Given the description of an element on the screen output the (x, y) to click on. 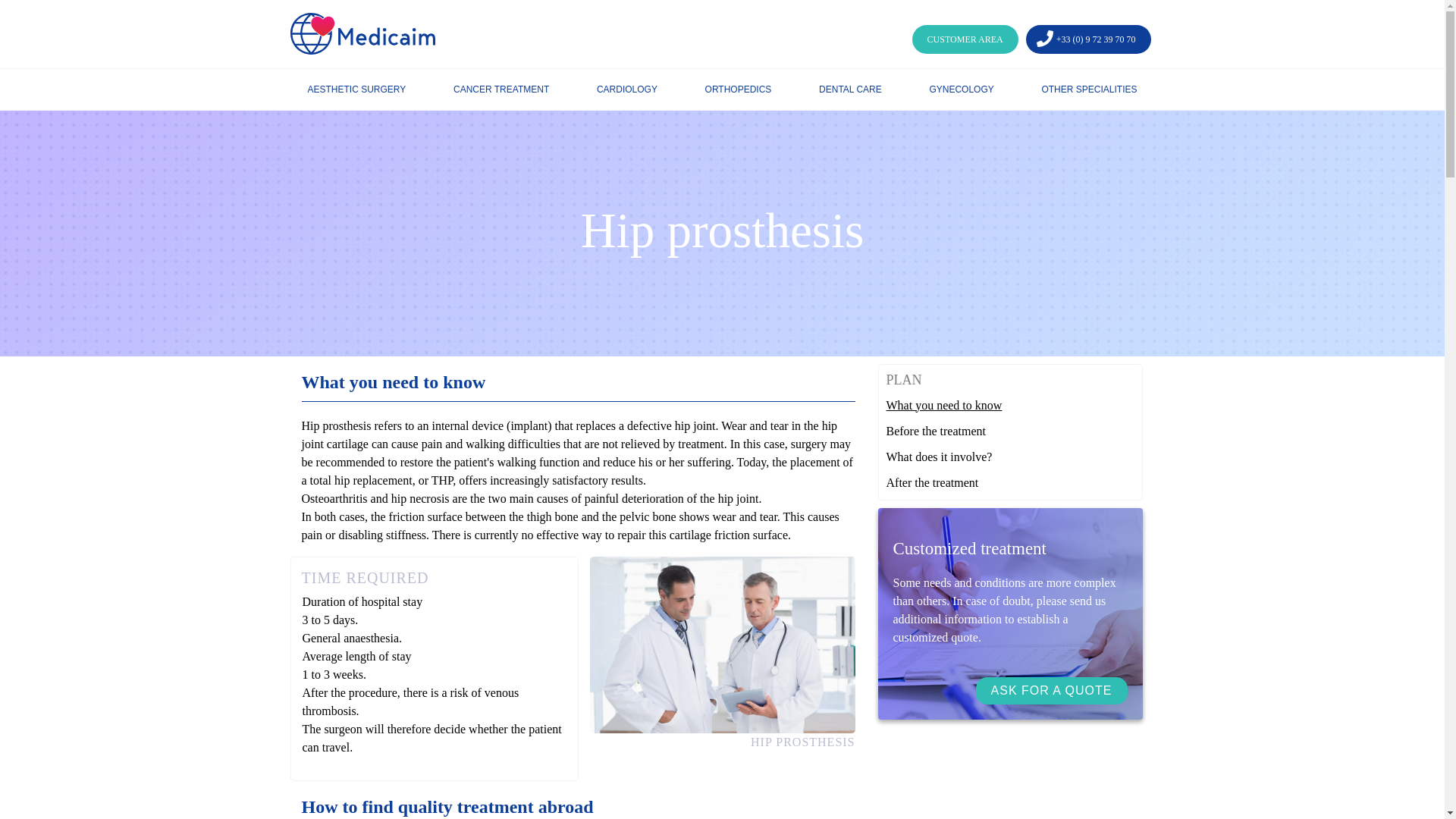
Before the treatment (1009, 431)
CUSTOMER AREA (964, 39)
GYNECOLOGY (960, 88)
ASK FOR A QUOTE (1051, 690)
CARDIOLOGY (627, 88)
What you need to know (1009, 405)
AESTHETIC SURGERY (356, 88)
What does it involve? (1009, 456)
ORTHOPEDICS (737, 88)
CANCER TREATMENT (500, 88)
After the treatment (1009, 483)
OTHER SPECIALITIES (1088, 88)
DENTAL CARE (850, 88)
